Given the description of an element on the screen output the (x, y) to click on. 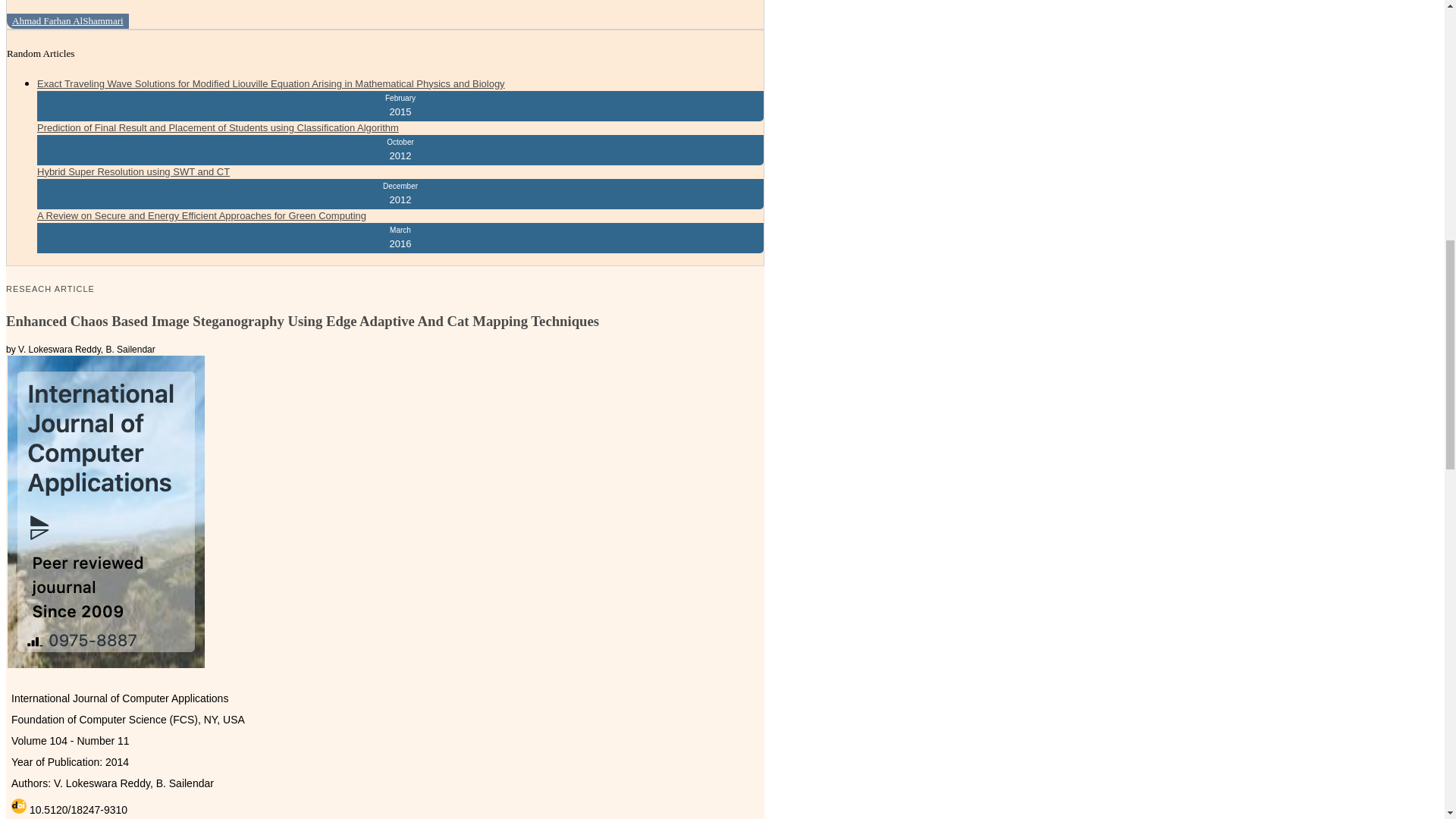
Ahmad Farhan AlShammari (68, 20)
Hybrid Super Resolution using SWT and CT (133, 171)
